Given the description of an element on the screen output the (x, y) to click on. 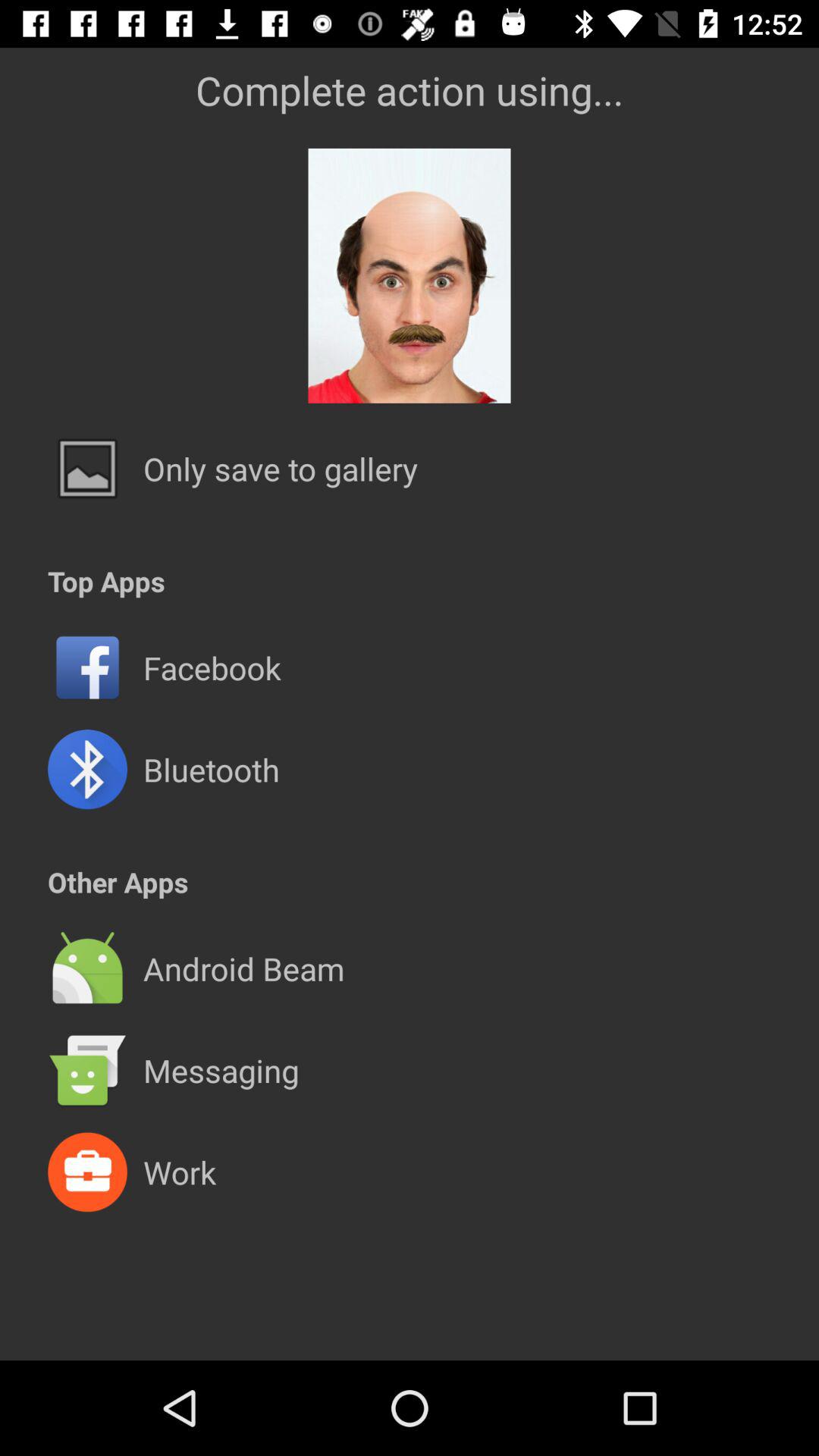
scroll until the only save to app (280, 468)
